Given the description of an element on the screen output the (x, y) to click on. 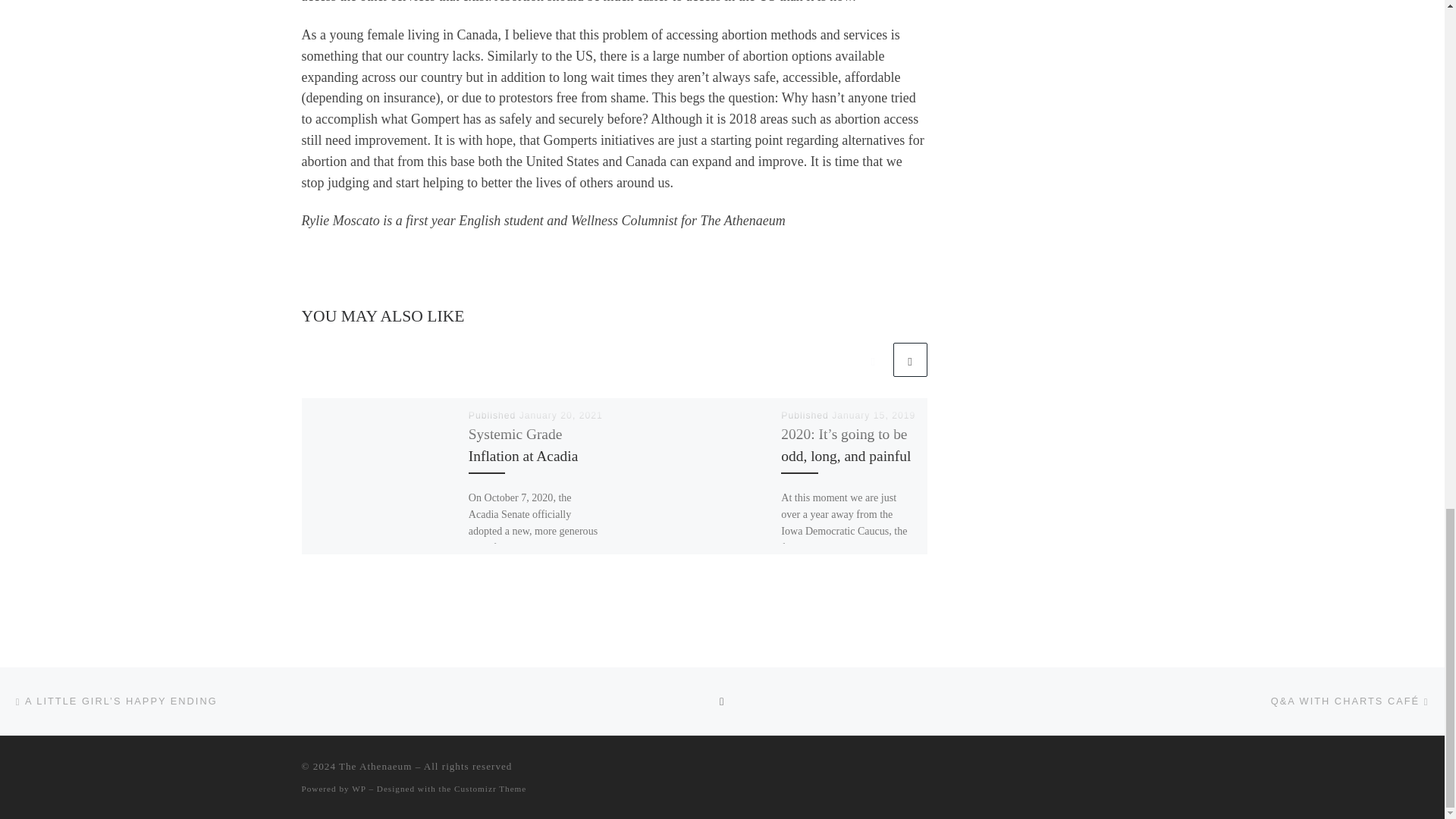
Customizr Theme (489, 788)
Next related articles (910, 359)
Powered by WordPress (358, 788)
The Athenaeum (375, 766)
Previous related articles (872, 359)
